Given the description of an element on the screen output the (x, y) to click on. 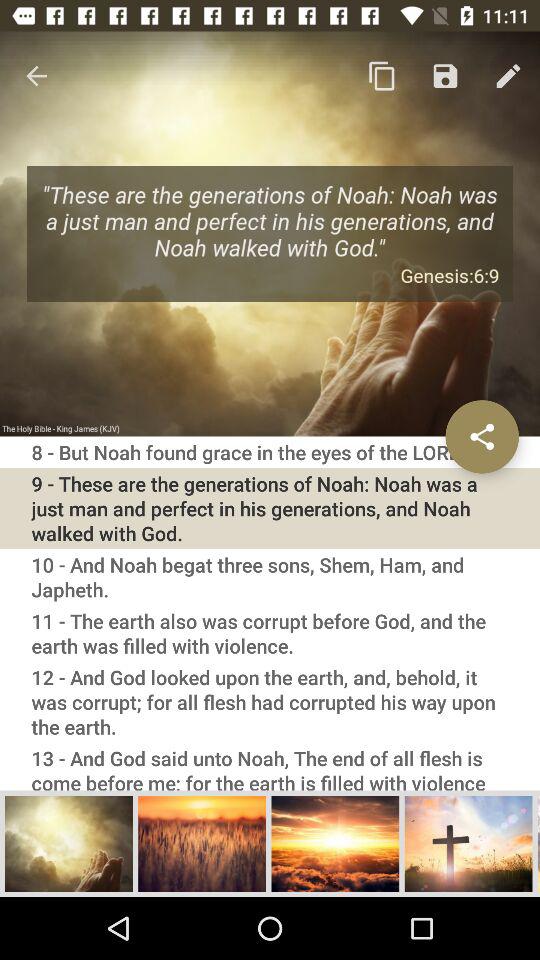
jump until 8 but noah (270, 452)
